Given the description of an element on the screen output the (x, y) to click on. 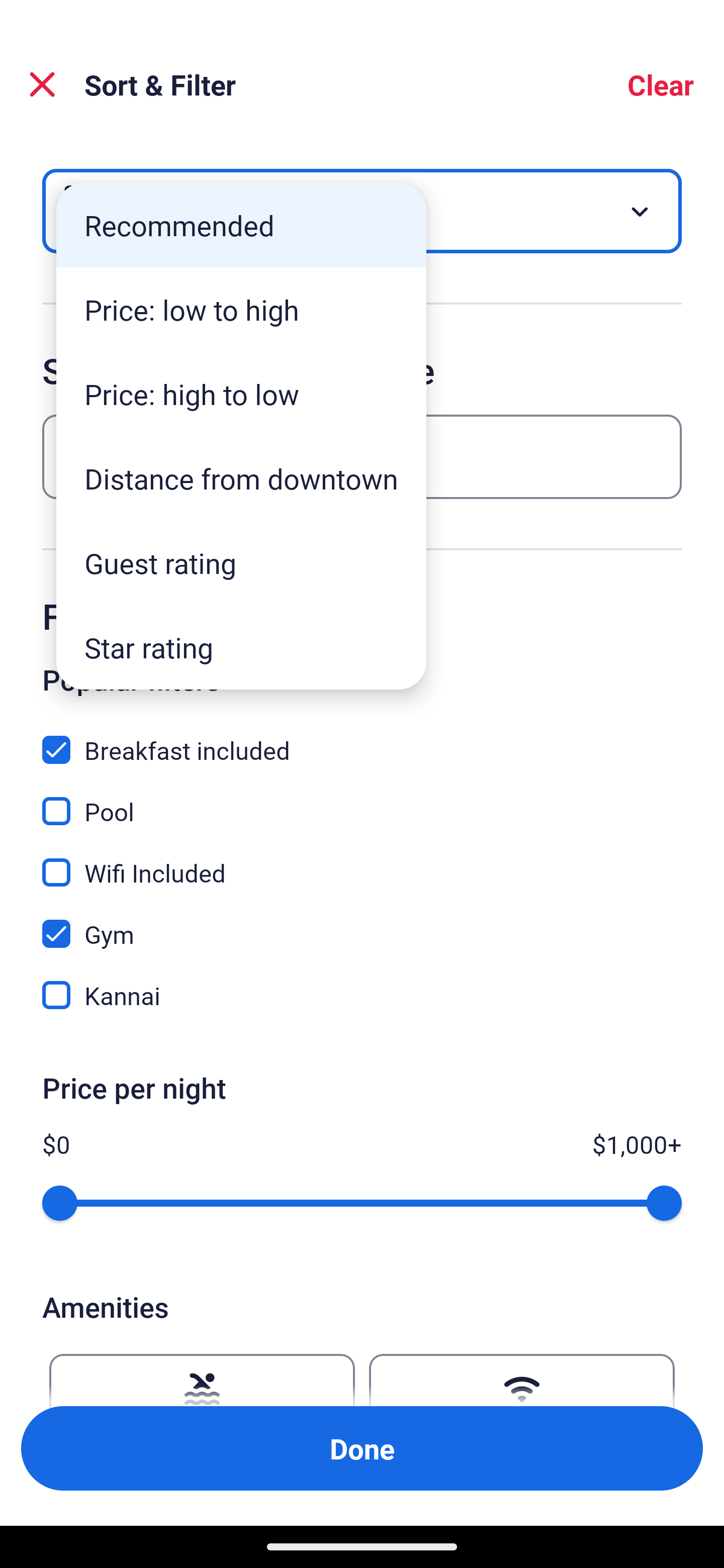
Price: low to high (241, 309)
Price: high to low (241, 393)
Distance from downtown (241, 477)
Guest rating (241, 562)
Star rating (241, 647)
